Given the description of an element on the screen output the (x, y) to click on. 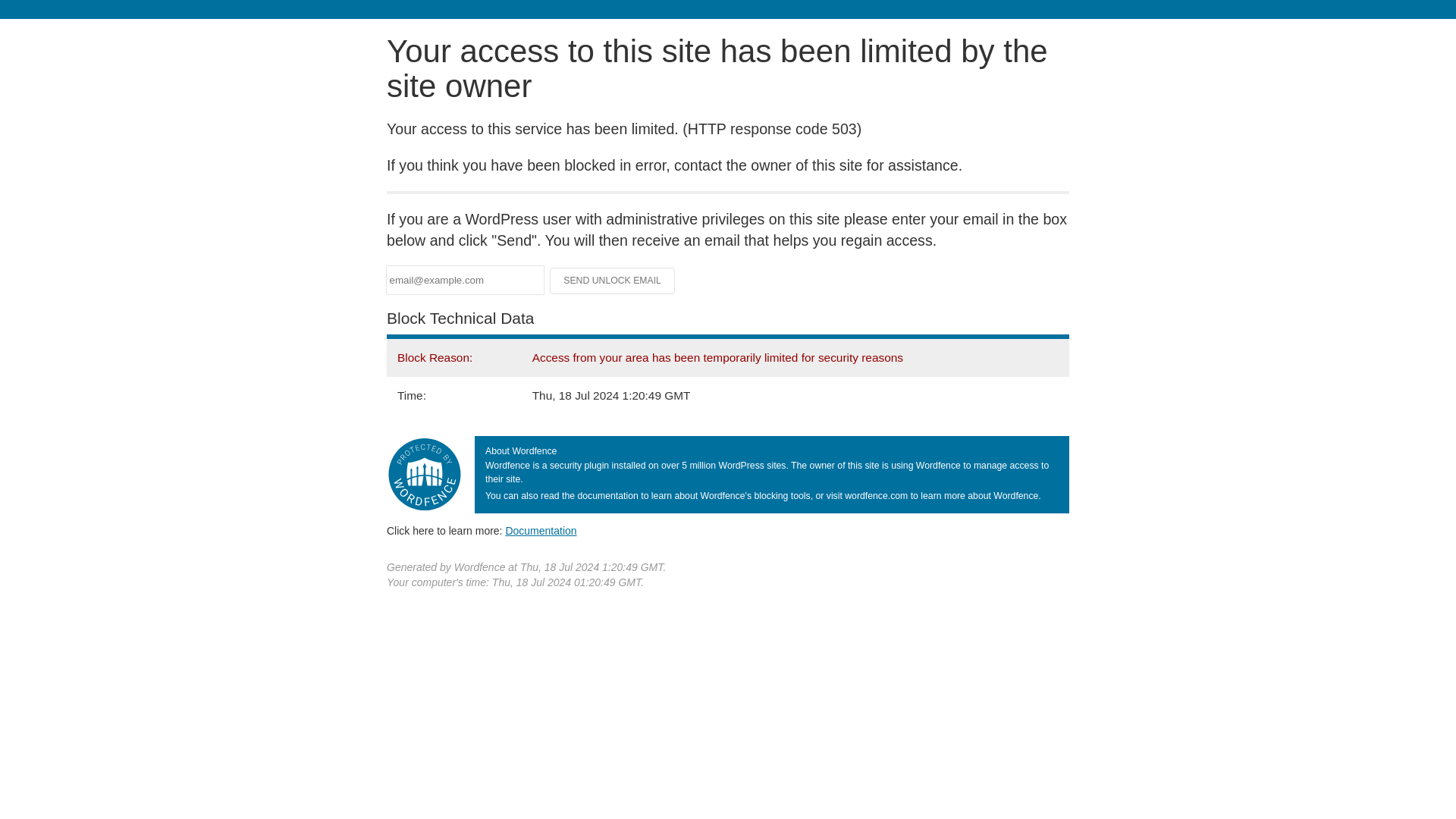
Send Unlock Email (612, 280)
Send Unlock Email (612, 280)
